Given the description of an element on the screen output the (x, y) to click on. 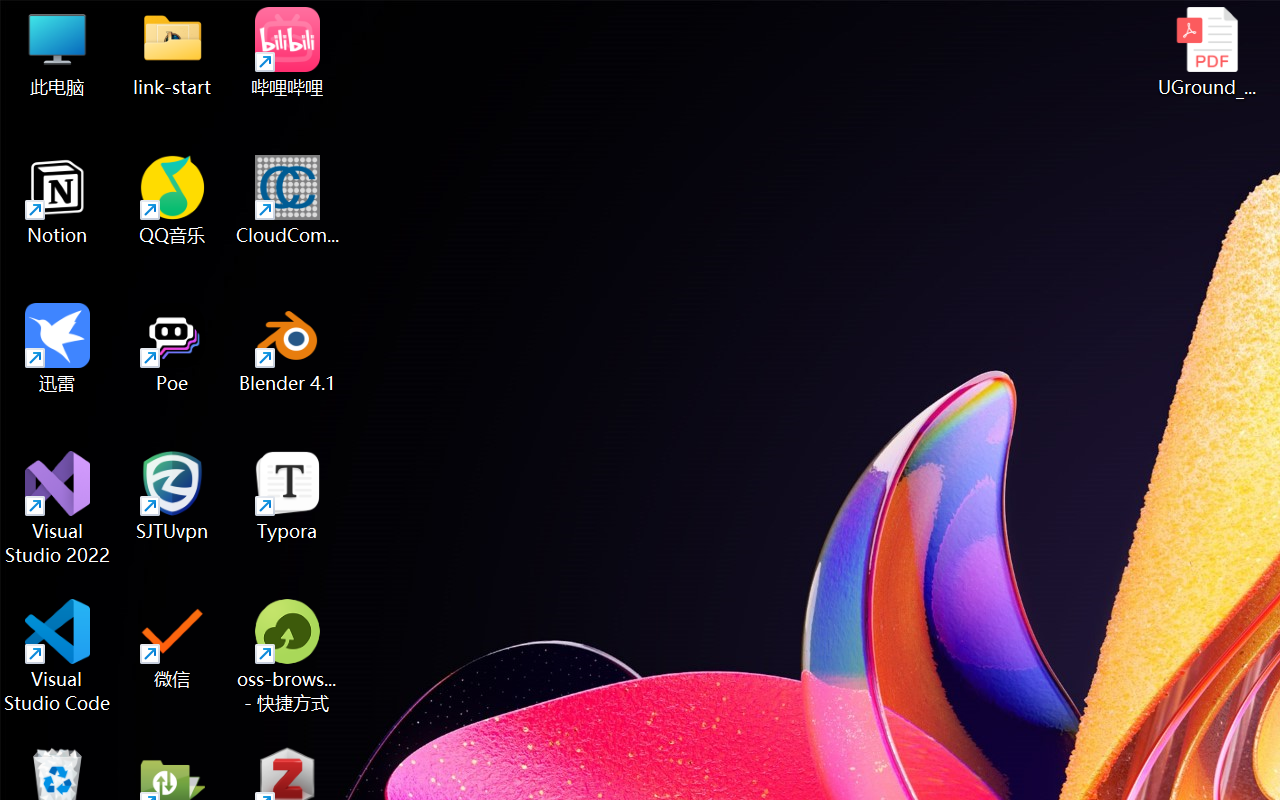
Visual Studio Code (57, 656)
Typora (287, 496)
Blender 4.1 (287, 348)
SJTUvpn (172, 496)
UGround_paper.pdf (1206, 52)
CloudCompare (287, 200)
Visual Studio 2022 (57, 508)
